Given the description of an element on the screen output the (x, y) to click on. 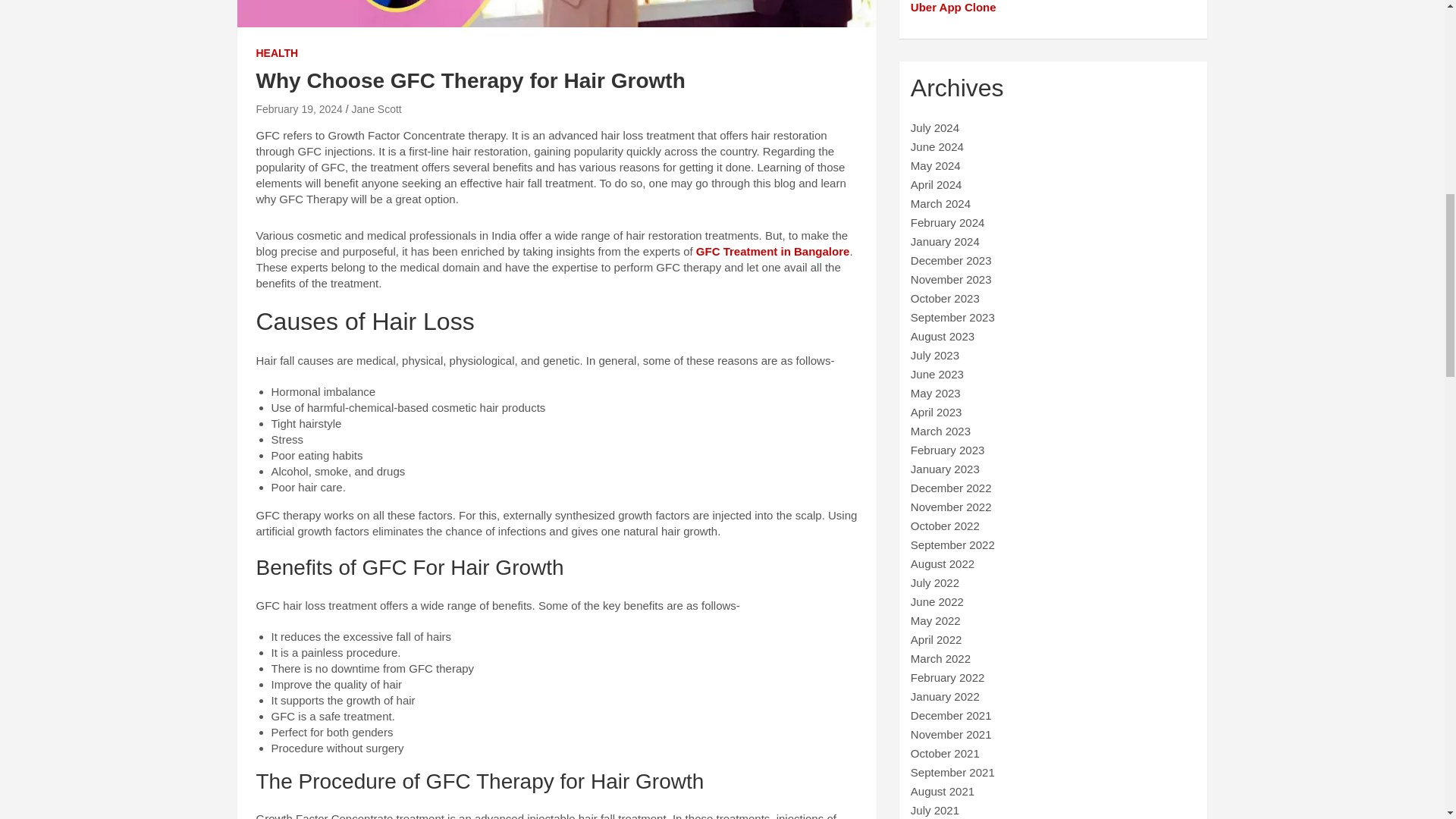
HEALTH (277, 53)
Why Choose GFC Therapy for Hair Growth (299, 109)
GFC Treatment in Bangalore (772, 250)
February 19, 2024 (299, 109)
Jane Scott (376, 109)
